Given the description of an element on the screen output the (x, y) to click on. 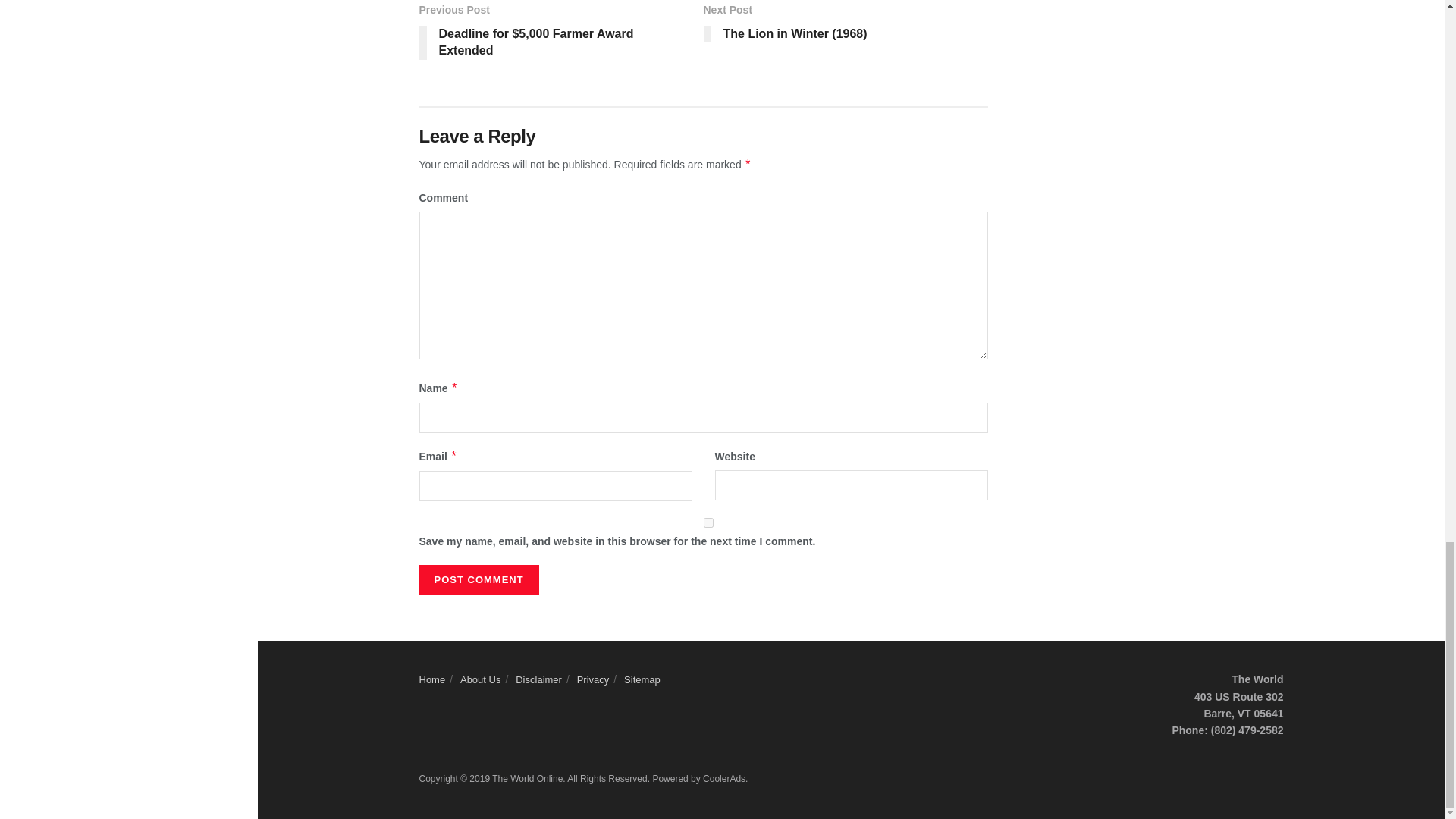
yes (708, 522)
Post Comment (478, 580)
